Given the description of an element on the screen output the (x, y) to click on. 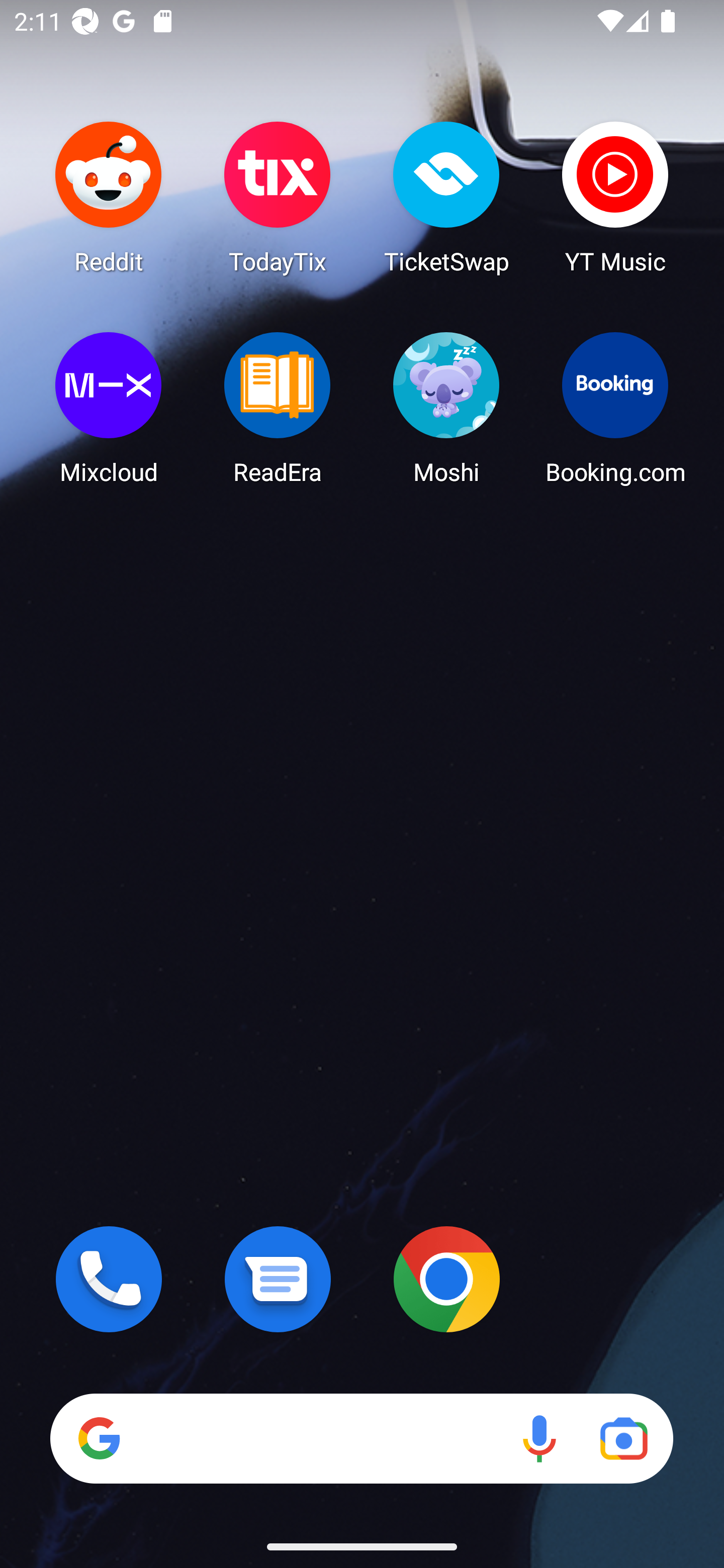
Reddit (108, 196)
TodayTix (277, 196)
TicketSwap (445, 196)
YT Music (615, 196)
Mixcloud (108, 407)
ReadEra (277, 407)
Moshi (445, 407)
Booking.com (615, 407)
Phone (108, 1279)
Messages (277, 1279)
Chrome (446, 1279)
Search Voice search Google Lens (361, 1438)
Voice search (539, 1438)
Google Lens (623, 1438)
